Given the description of an element on the screen output the (x, y) to click on. 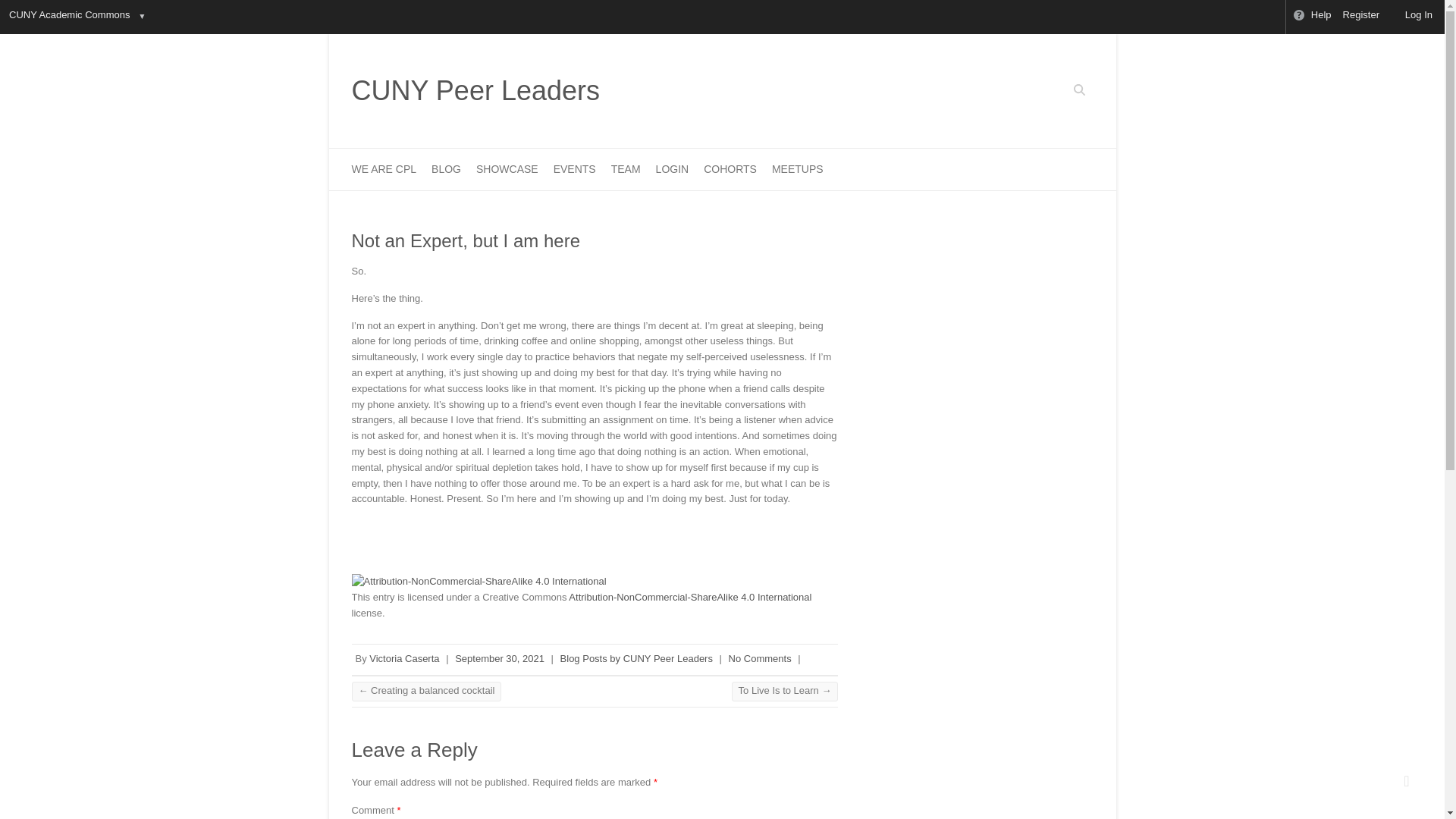
Register (1362, 17)
SHOWCASE (507, 169)
CUNY Academic Commons (68, 17)
Share on Linkedin (446, 540)
Blog Posts by CUNY Peer Leaders (636, 658)
6:18 pm (499, 658)
CUNY Peer Leaders (475, 90)
CUNY Peer Leaders (475, 90)
COHORTS (730, 169)
Attribution-NonCommercial-ShareAlike 4.0 International (689, 596)
